Given the description of an element on the screen output the (x, y) to click on. 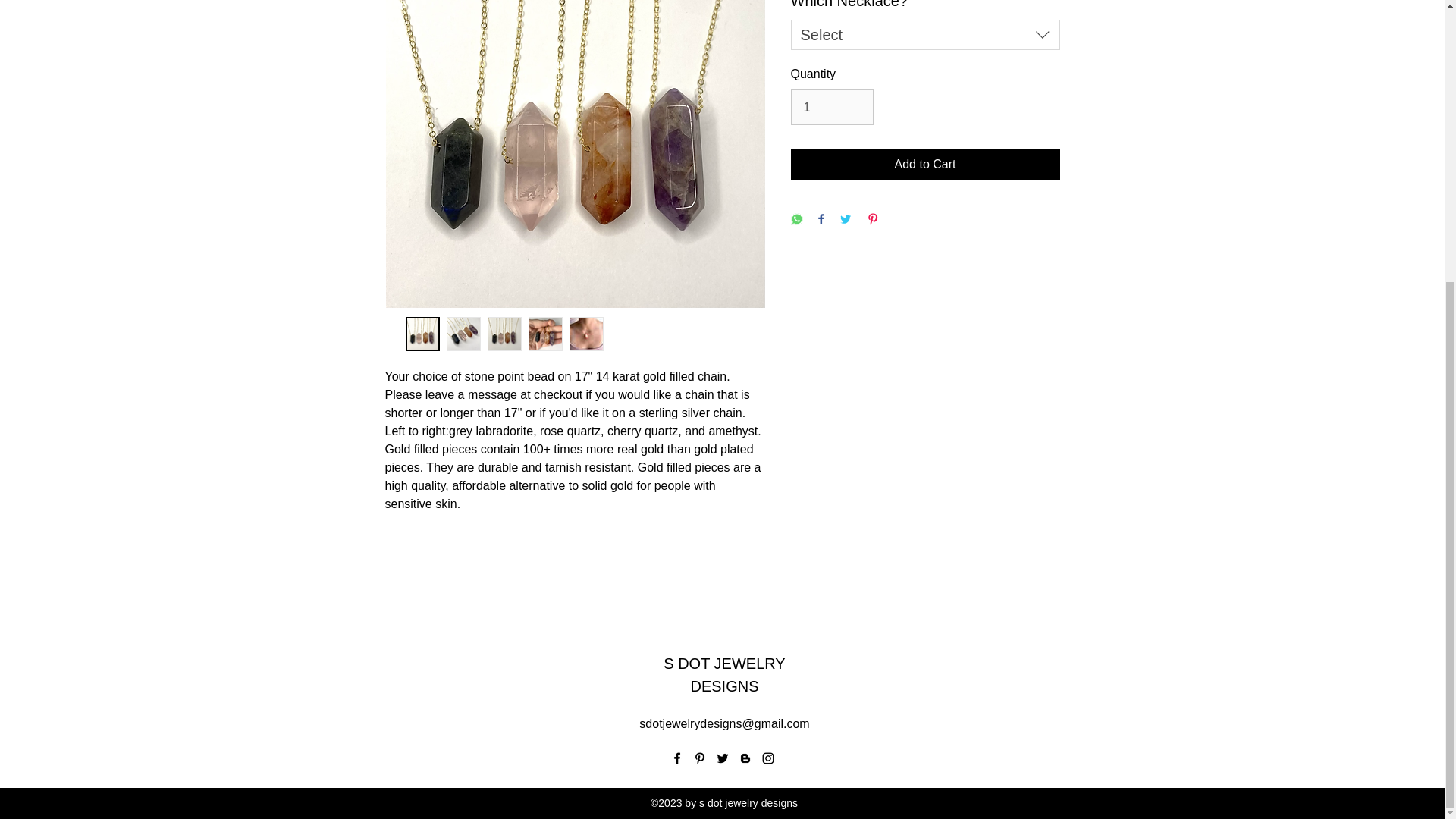
Select (924, 34)
1 (831, 106)
Add to Cart (924, 164)
